Given the description of an element on the screen output the (x, y) to click on. 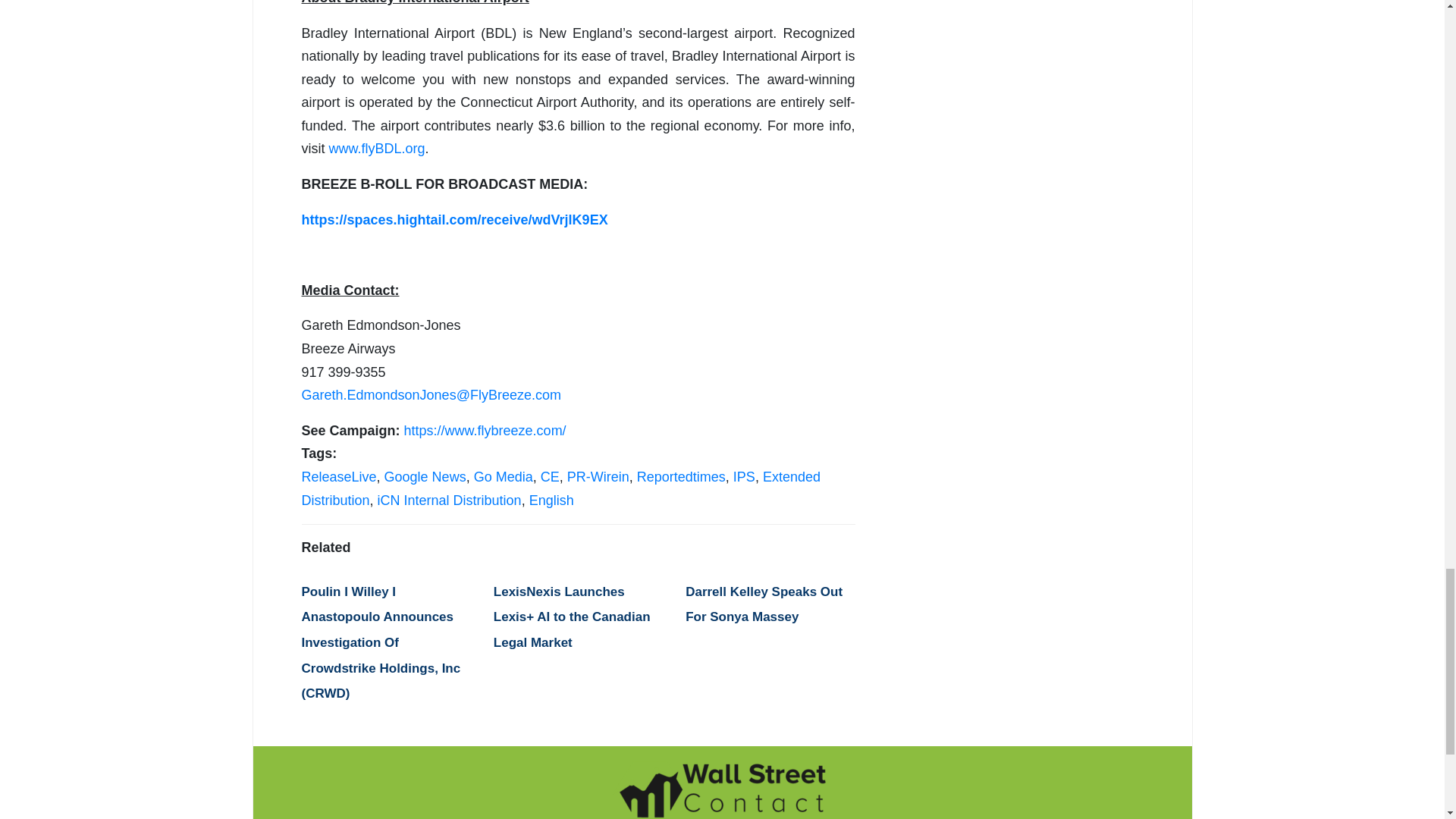
PR-Wirein (597, 476)
CE (549, 476)
Reportedtimes (681, 476)
Google News (424, 476)
Go Media (503, 476)
iCN Internal Distribution (449, 500)
site title (721, 788)
IPS (744, 476)
Extended Distribution (561, 488)
English (551, 500)
ReleaseLive (339, 476)
www.flyBDL.org (377, 148)
